Given the description of an element on the screen output the (x, y) to click on. 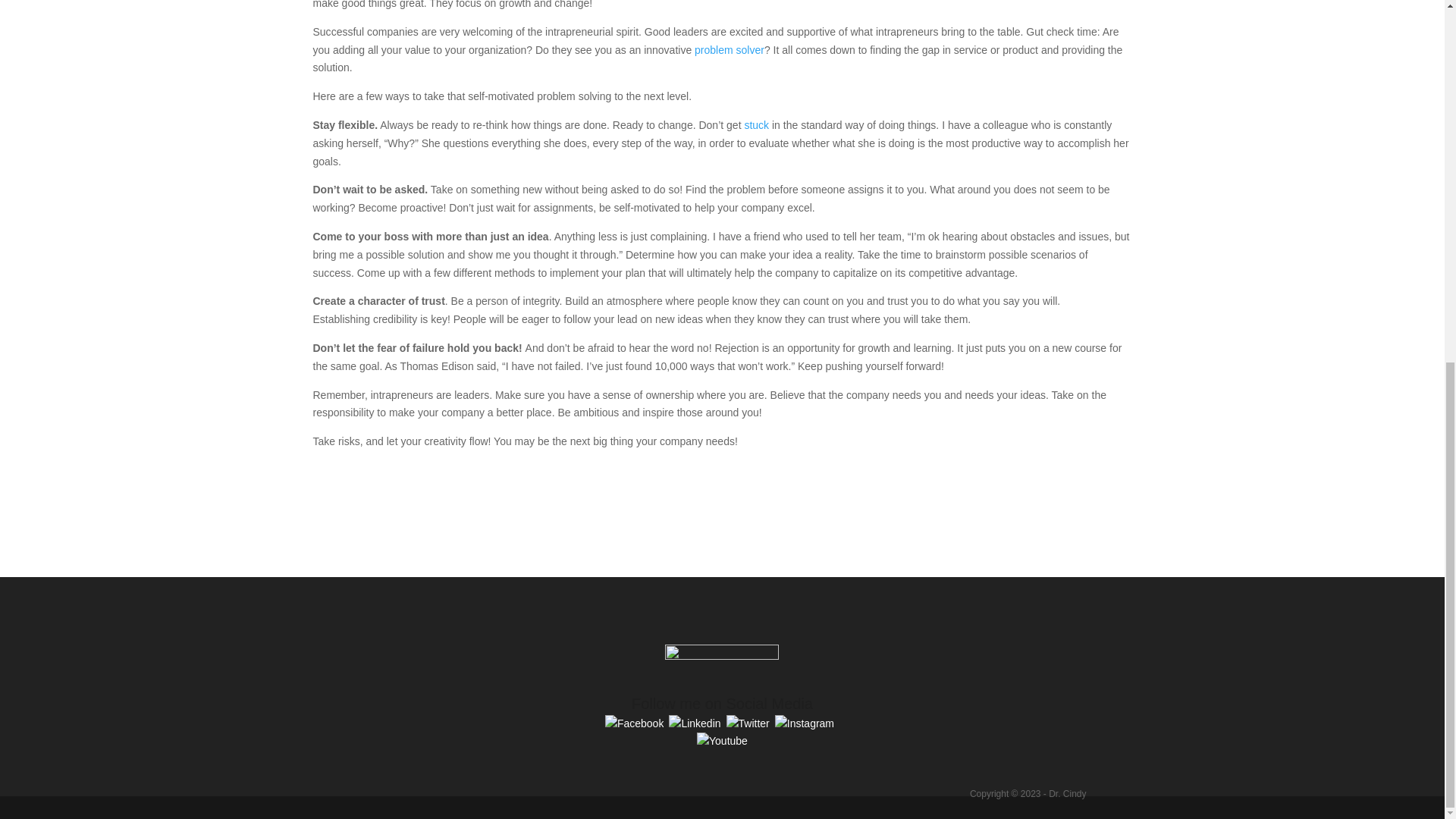
problem solver (729, 50)
stuck (756, 124)
